Given the description of an element on the screen output the (x, y) to click on. 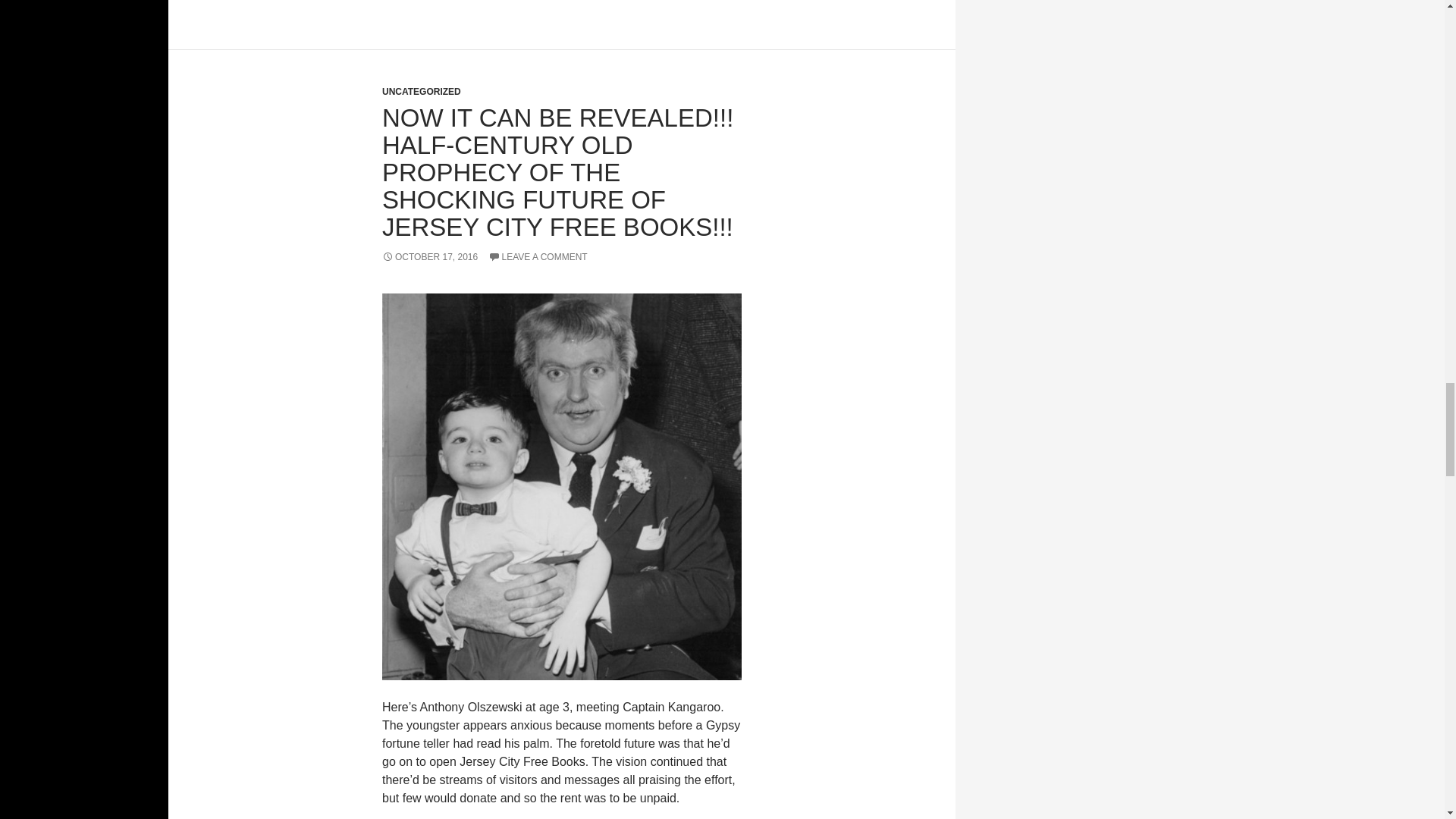
UNCATEGORIZED (421, 91)
OCTOBER 17, 2016 (429, 256)
LEAVE A COMMENT (537, 256)
